Given the description of an element on the screen output the (x, y) to click on. 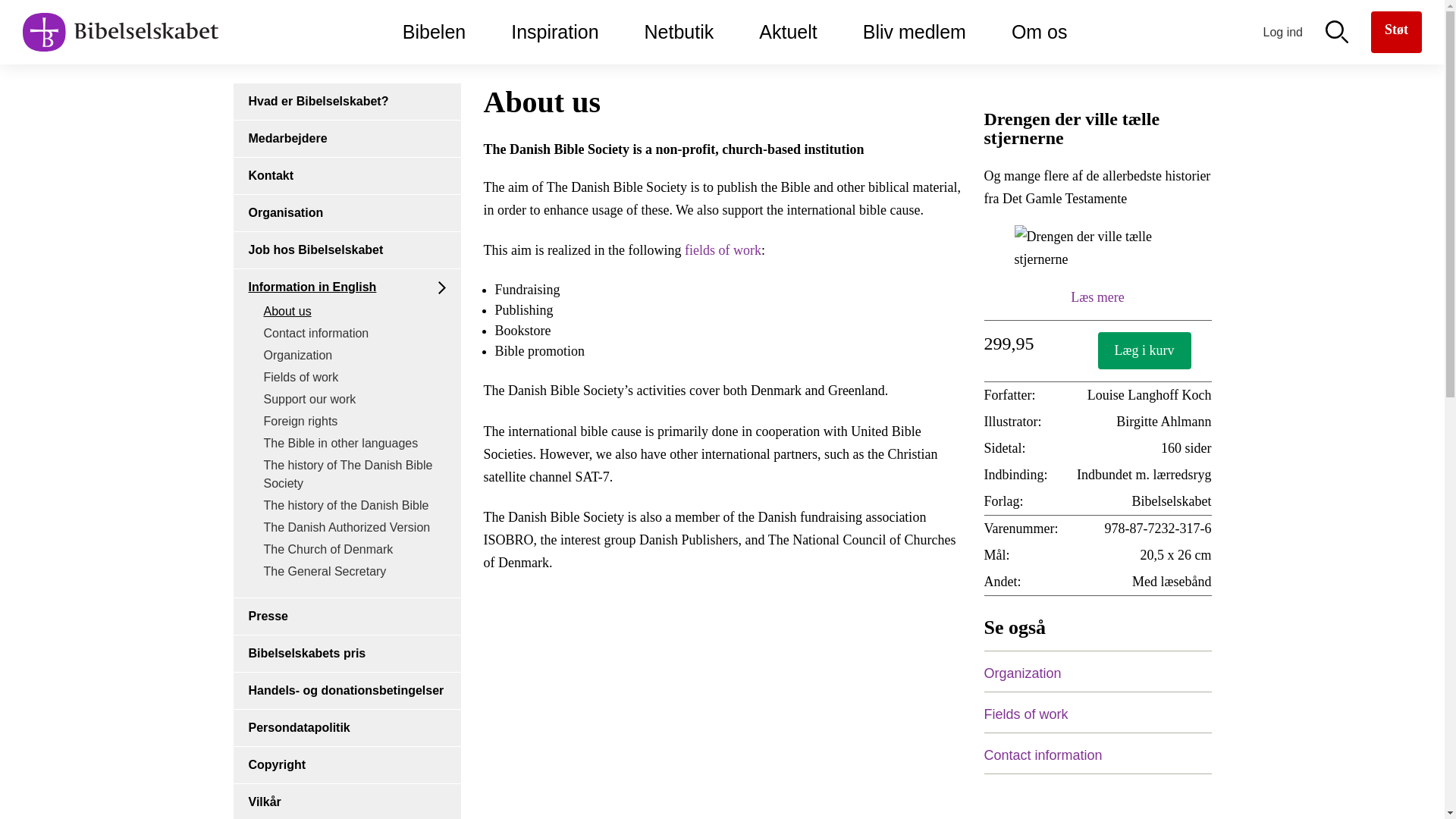
Bibelen (433, 32)
Netbutik (678, 32)
Inspiration (554, 32)
Hvad er Bibelselskabet? (346, 101)
